Given the description of an element on the screen output the (x, y) to click on. 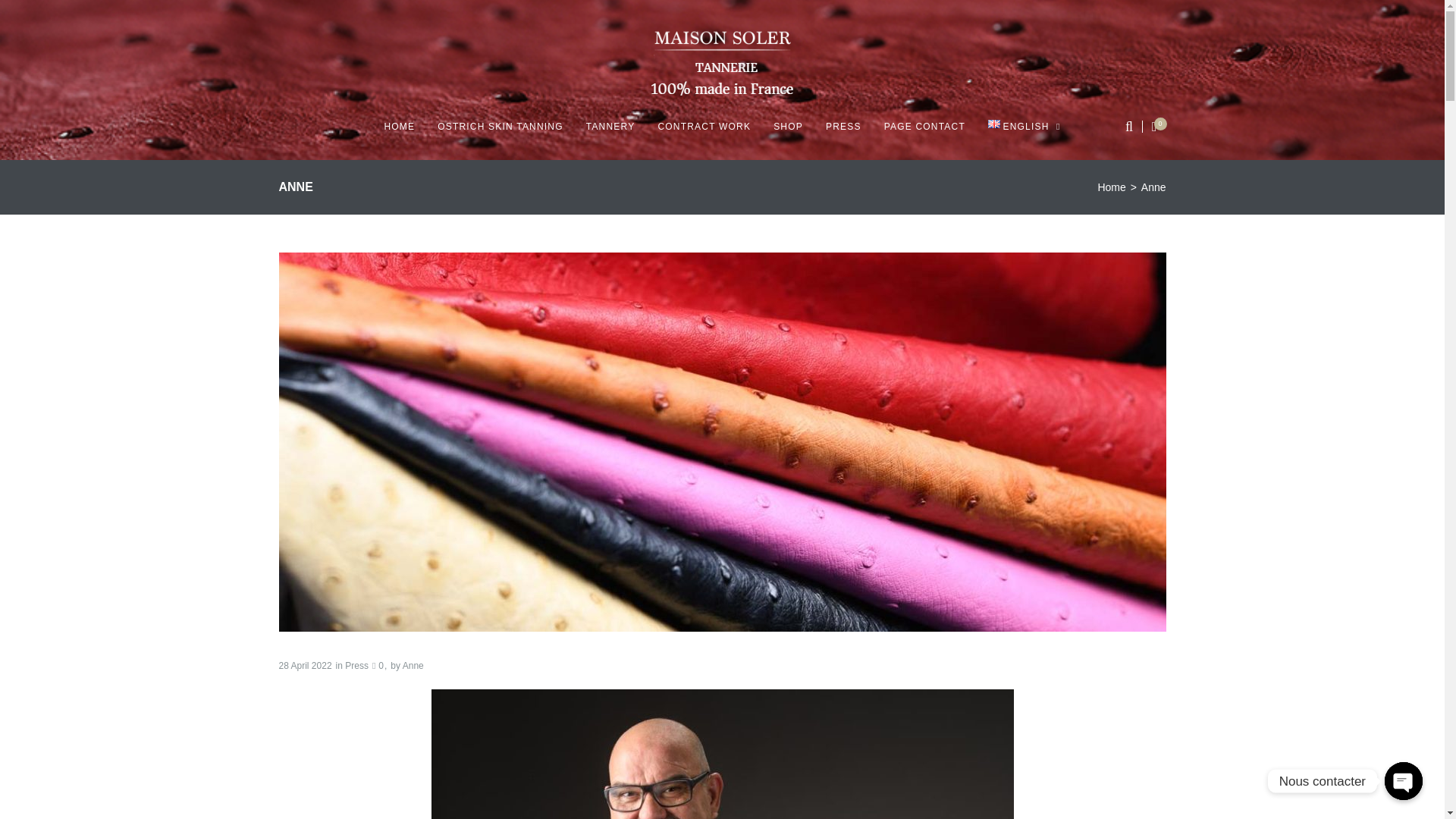
OSTRICH SKIN TANNING (500, 126)
0 (378, 665)
Home (1111, 187)
HOME (399, 126)
Anne (413, 665)
SHOP (788, 126)
ENGLISH (1024, 126)
PAGE CONTACT (924, 126)
PRESS (843, 126)
28 April 2022 (305, 665)
Home (1111, 187)
Press (356, 665)
TANNERY (610, 126)
CONTRACT WORK (704, 126)
